Given the description of an element on the screen output the (x, y) to click on. 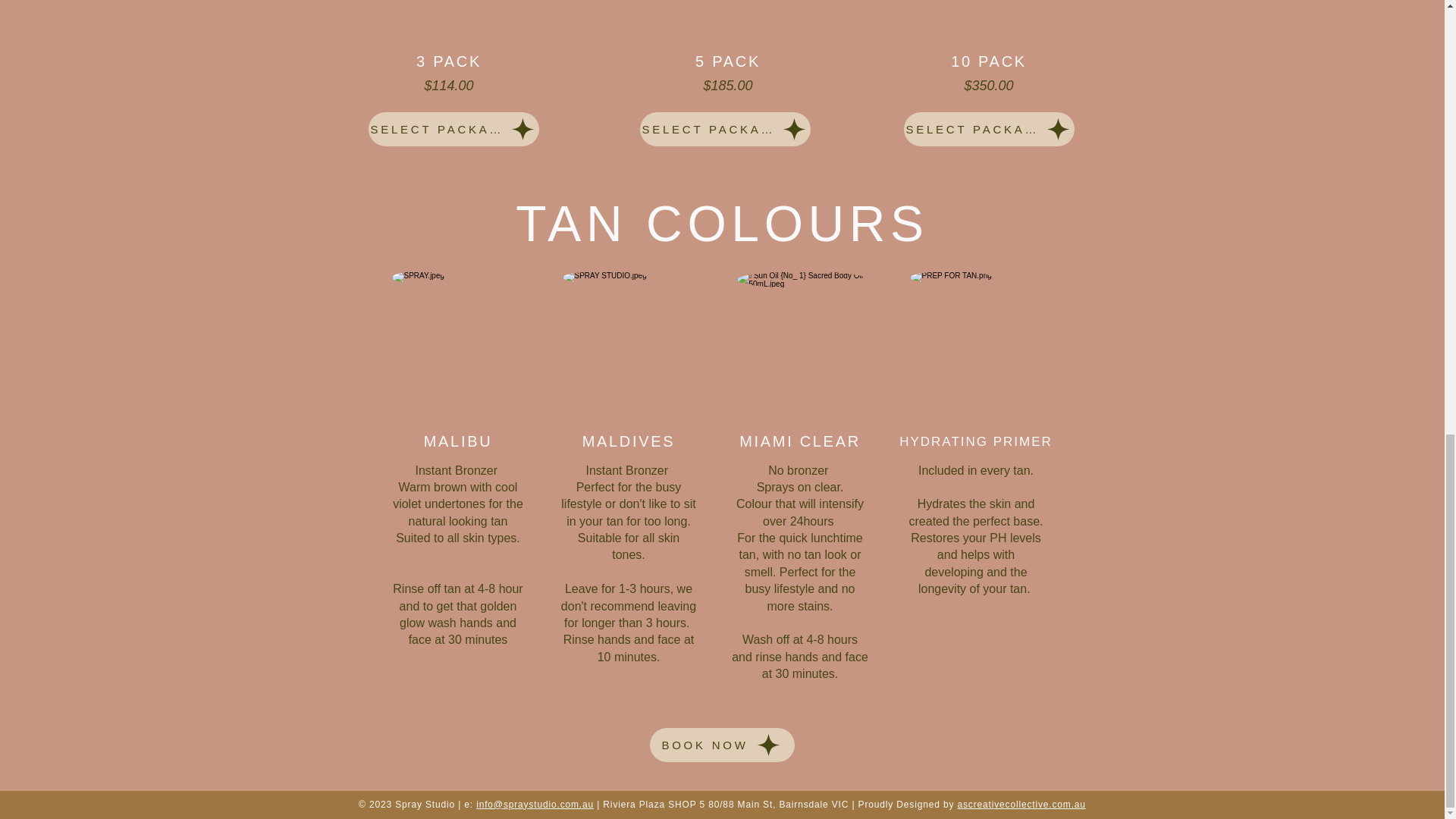
SELECT PACKAGE (989, 129)
BOOK NOW (721, 745)
SELECT PACKAGE (453, 129)
SELECT PACKAGE (725, 129)
ascreativecollective.com.au (1020, 804)
